Given the description of an element on the screen output the (x, y) to click on. 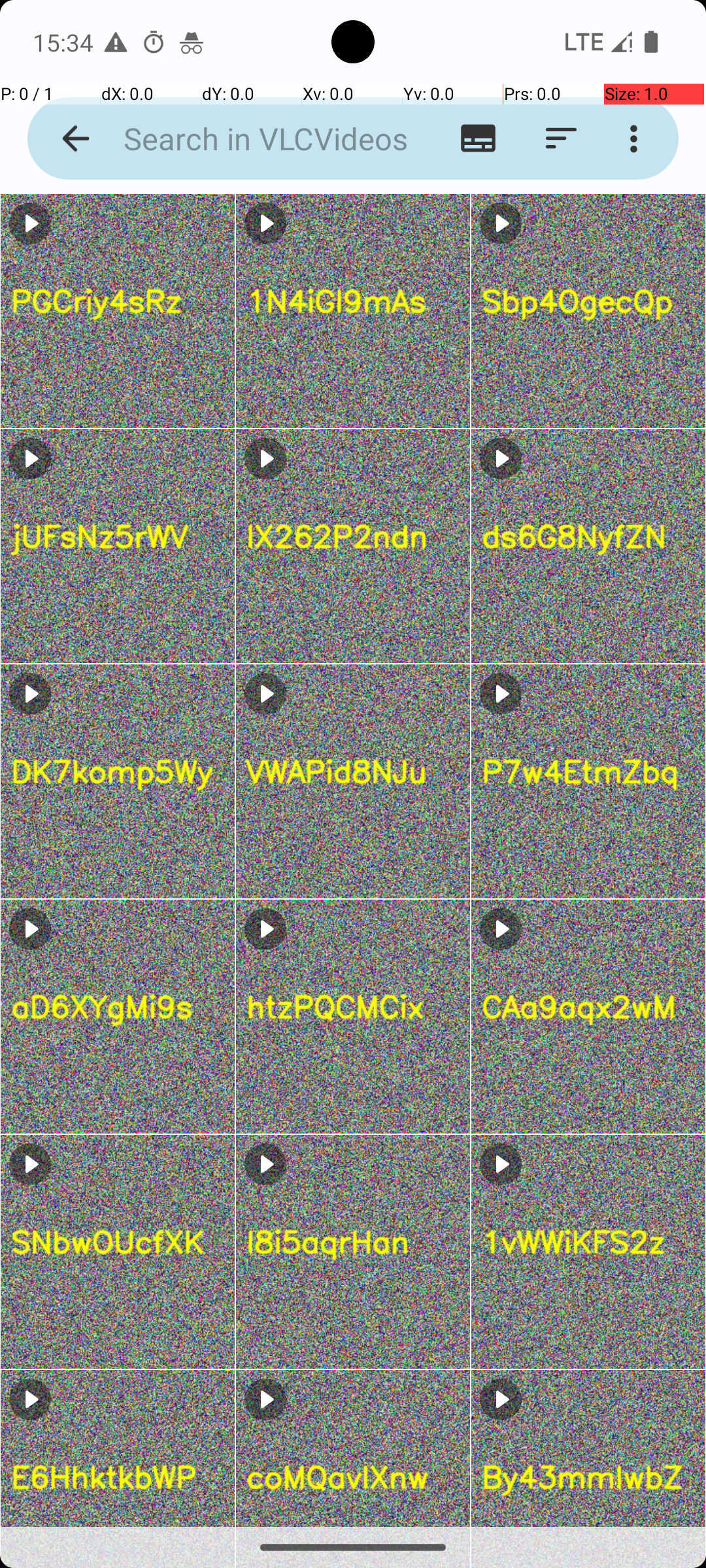
Search in VLCVideos Element type: android.widget.EditText (252, 138)
